Given the description of an element on the screen output the (x, y) to click on. 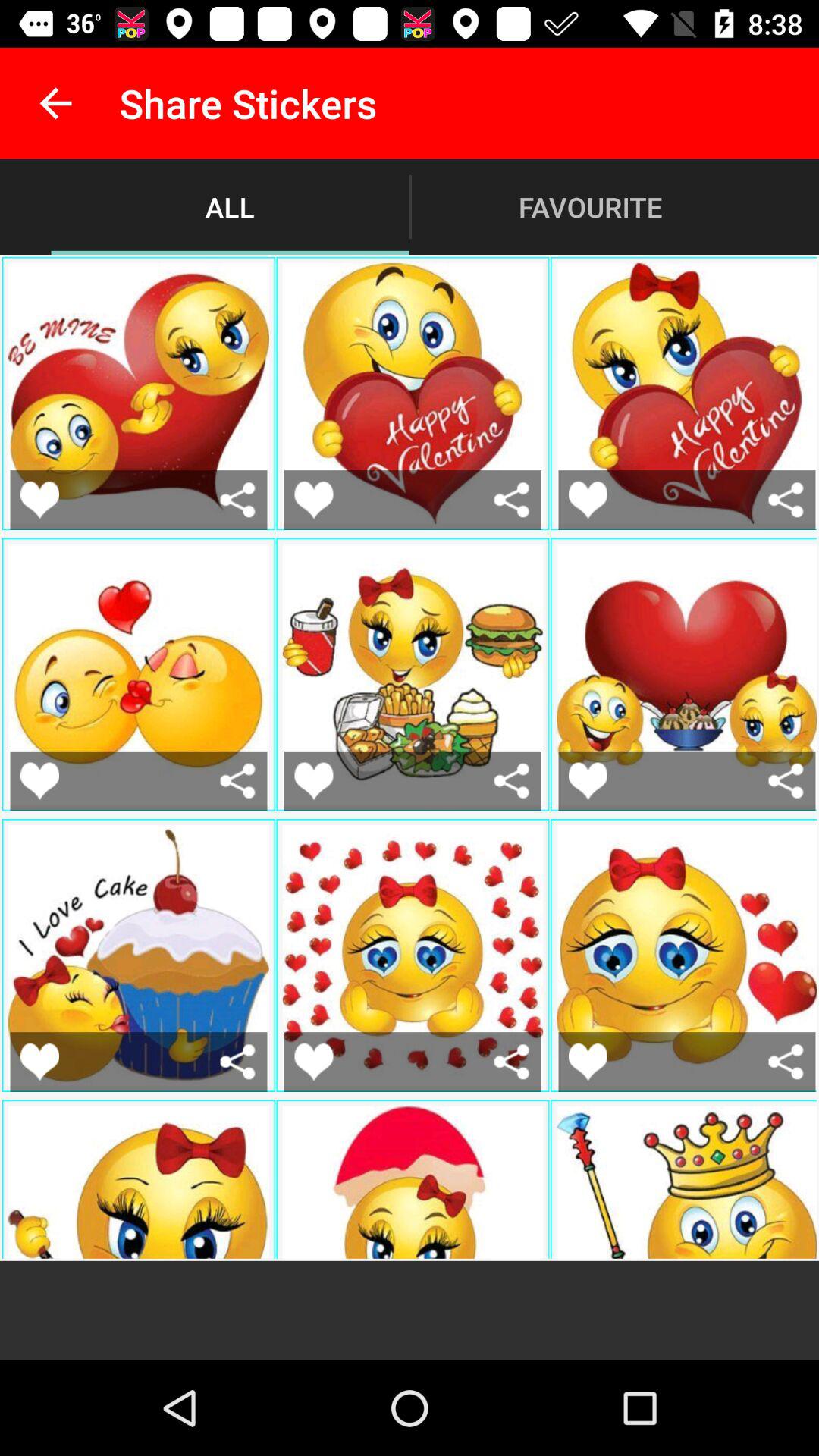
share the picture (237, 1061)
